Given the description of an element on the screen output the (x, y) to click on. 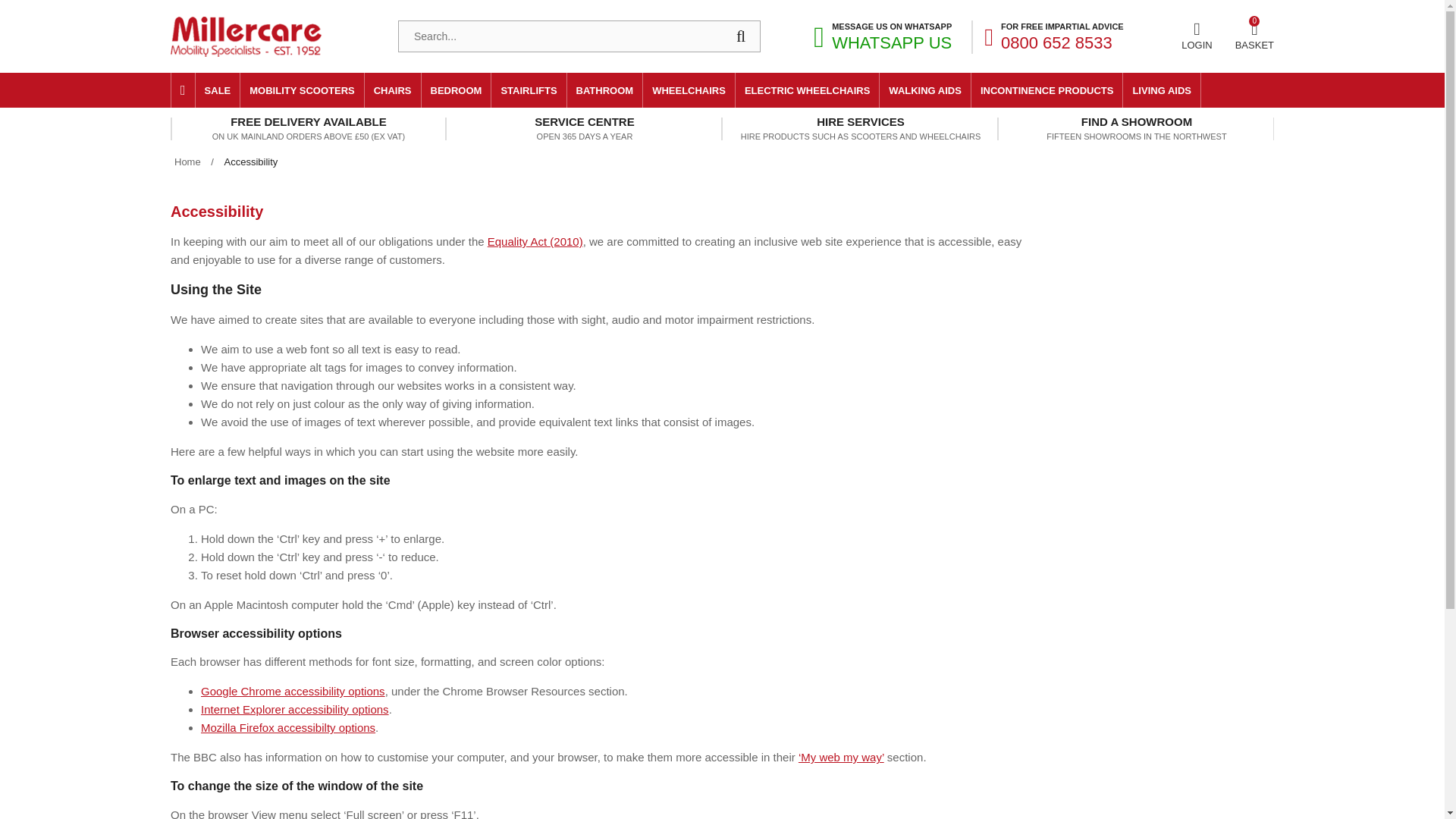
MOBILITY SCOOTERS (301, 89)
Millercare (283, 41)
BEDROOM (457, 89)
Go to homepage (283, 41)
SALE (1254, 34)
LOGIN (217, 89)
CHAIRS (892, 37)
Millercare Phone Number (1195, 36)
